Given the description of an element on the screen output the (x, y) to click on. 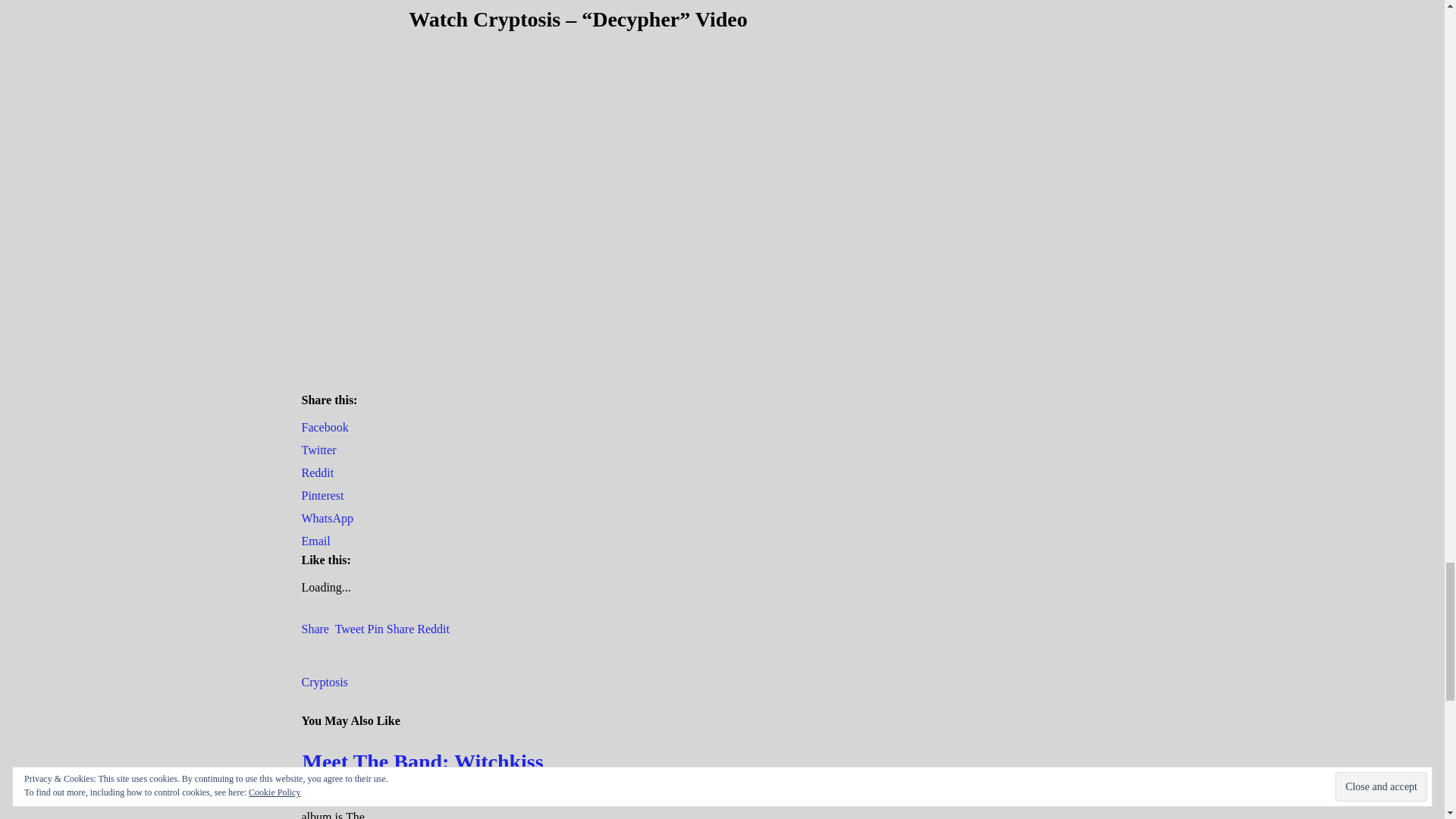
Click to email a link to a friend (315, 540)
Pin (376, 628)
Click to share on Reddit (317, 472)
Meet The Band: Witchkiss (422, 761)
Reddit (317, 472)
Twitter (318, 449)
Click to share on Pinterest (322, 495)
Reddit (432, 628)
Facebook (325, 427)
Email (315, 540)
